Given the description of an element on the screen output the (x, y) to click on. 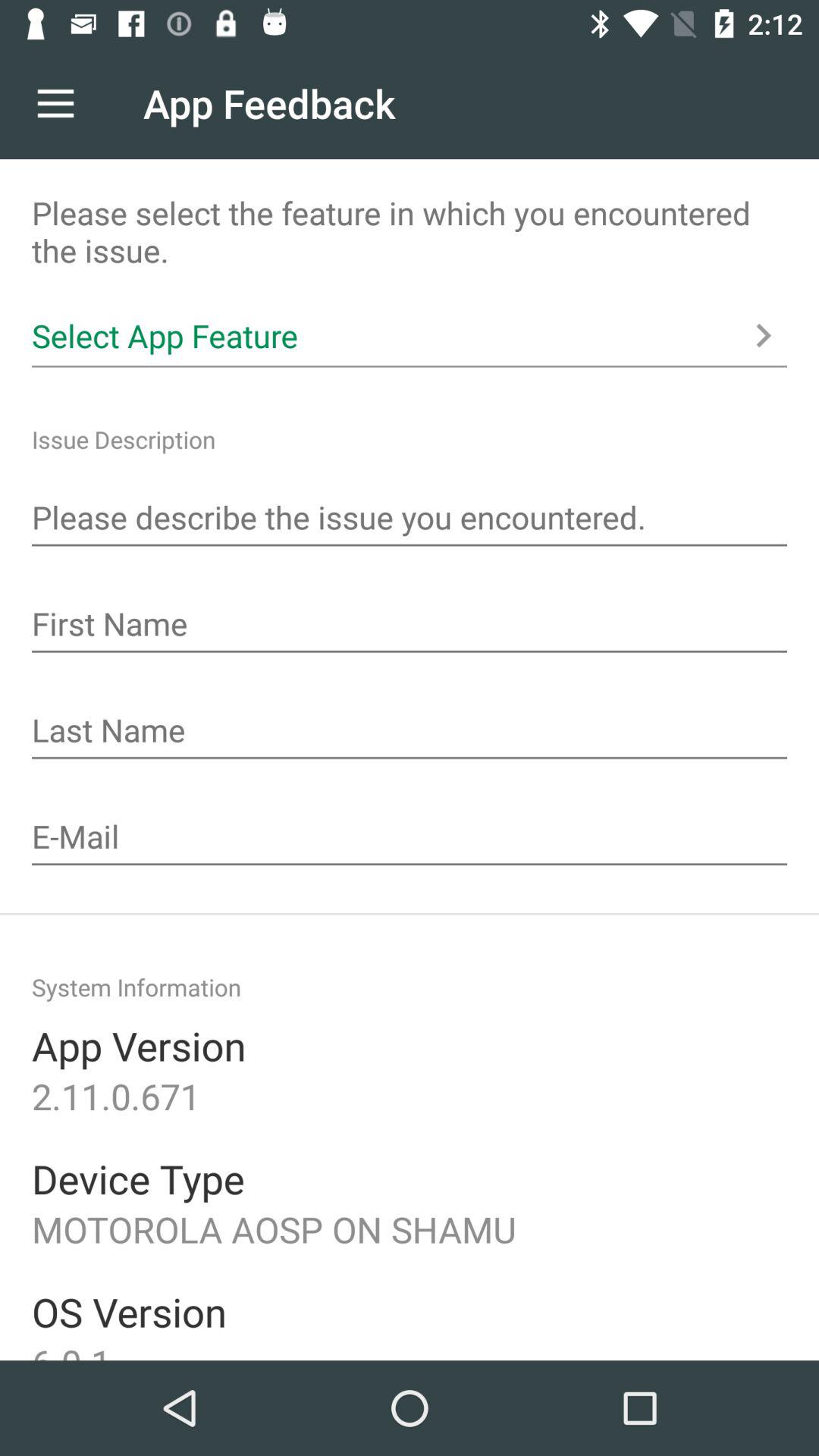
enter last name (409, 731)
